Given the description of an element on the screen output the (x, y) to click on. 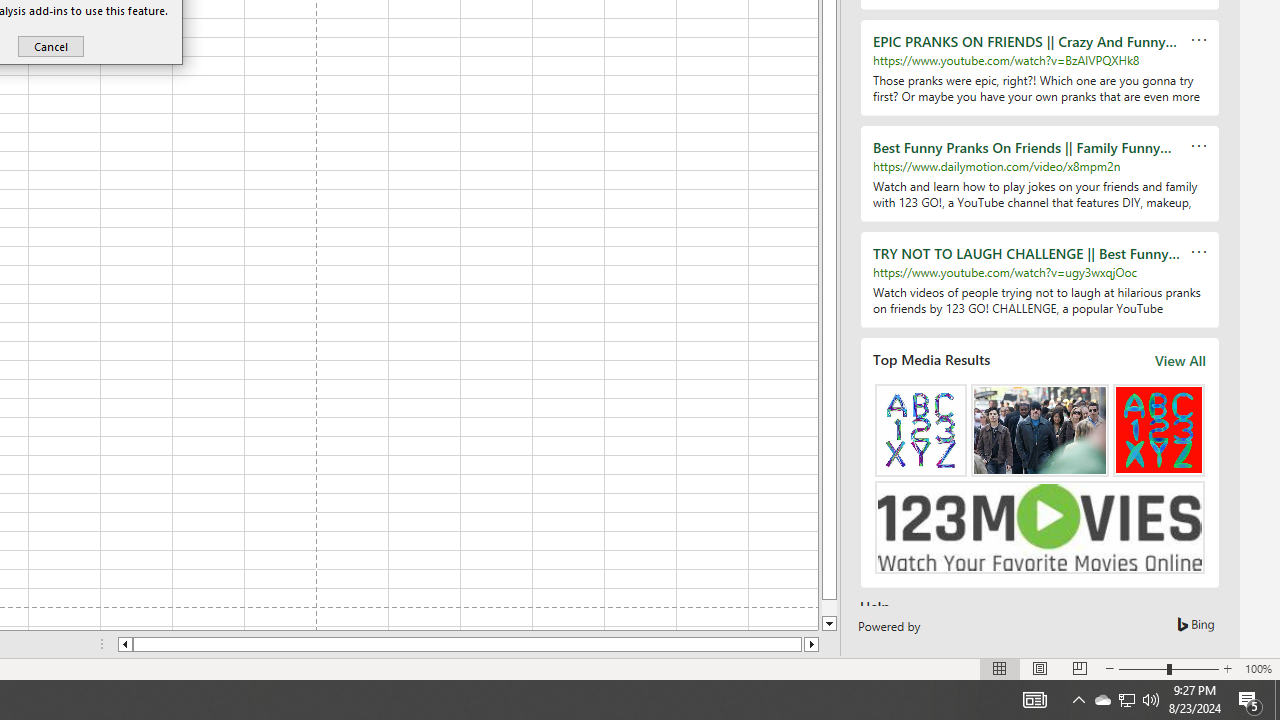
Cancel (50, 46)
User Promoted Notification Area (1126, 699)
Show desktop (1277, 699)
Notification Chevron (1078, 699)
Action Center, 5 new notifications (1102, 699)
